Given the description of an element on the screen output the (x, y) to click on. 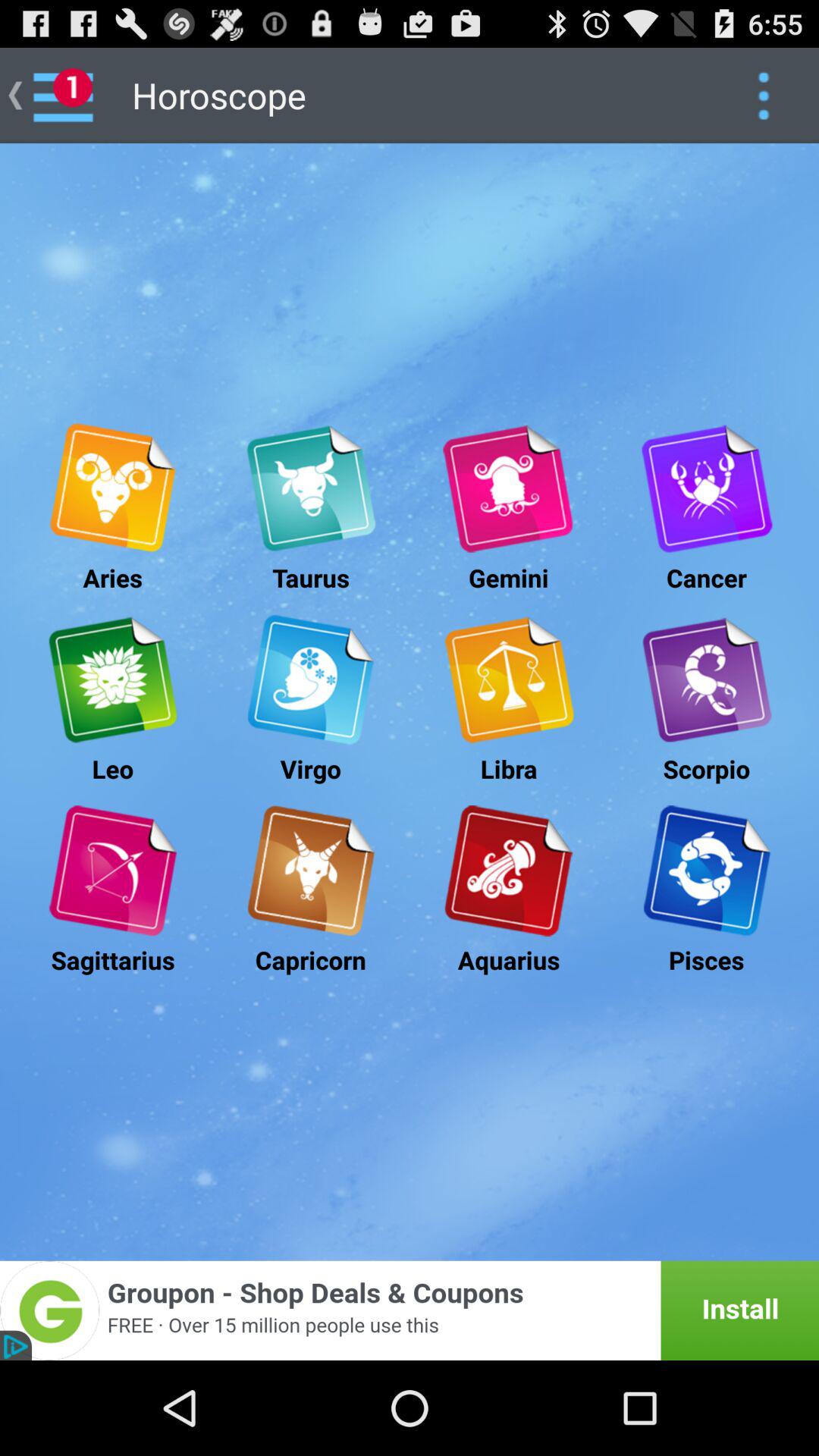
taurus (310, 488)
